Given the description of an element on the screen output the (x, y) to click on. 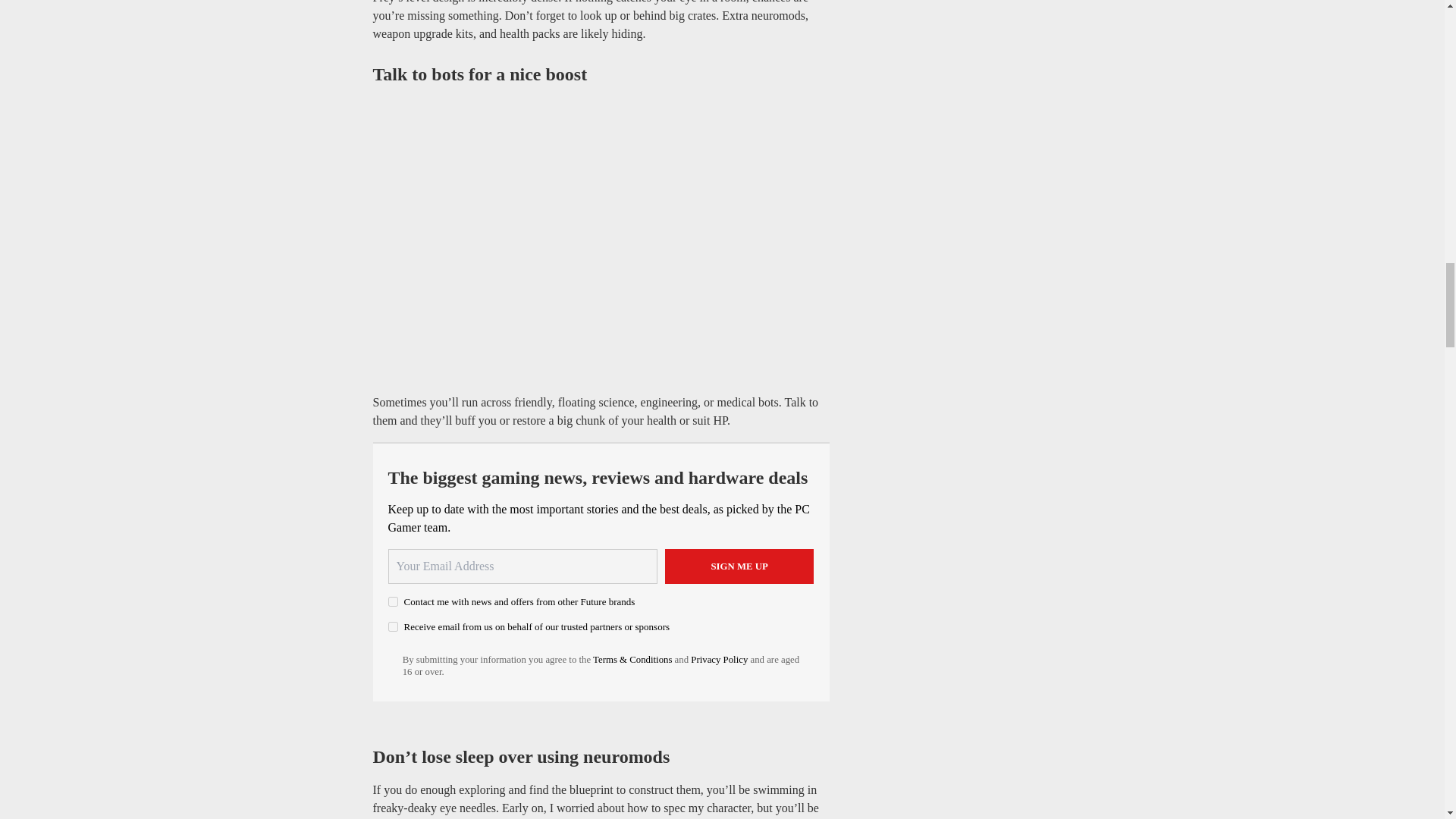
Sign me up (739, 565)
on (392, 626)
on (392, 601)
